Given the description of an element on the screen output the (x, y) to click on. 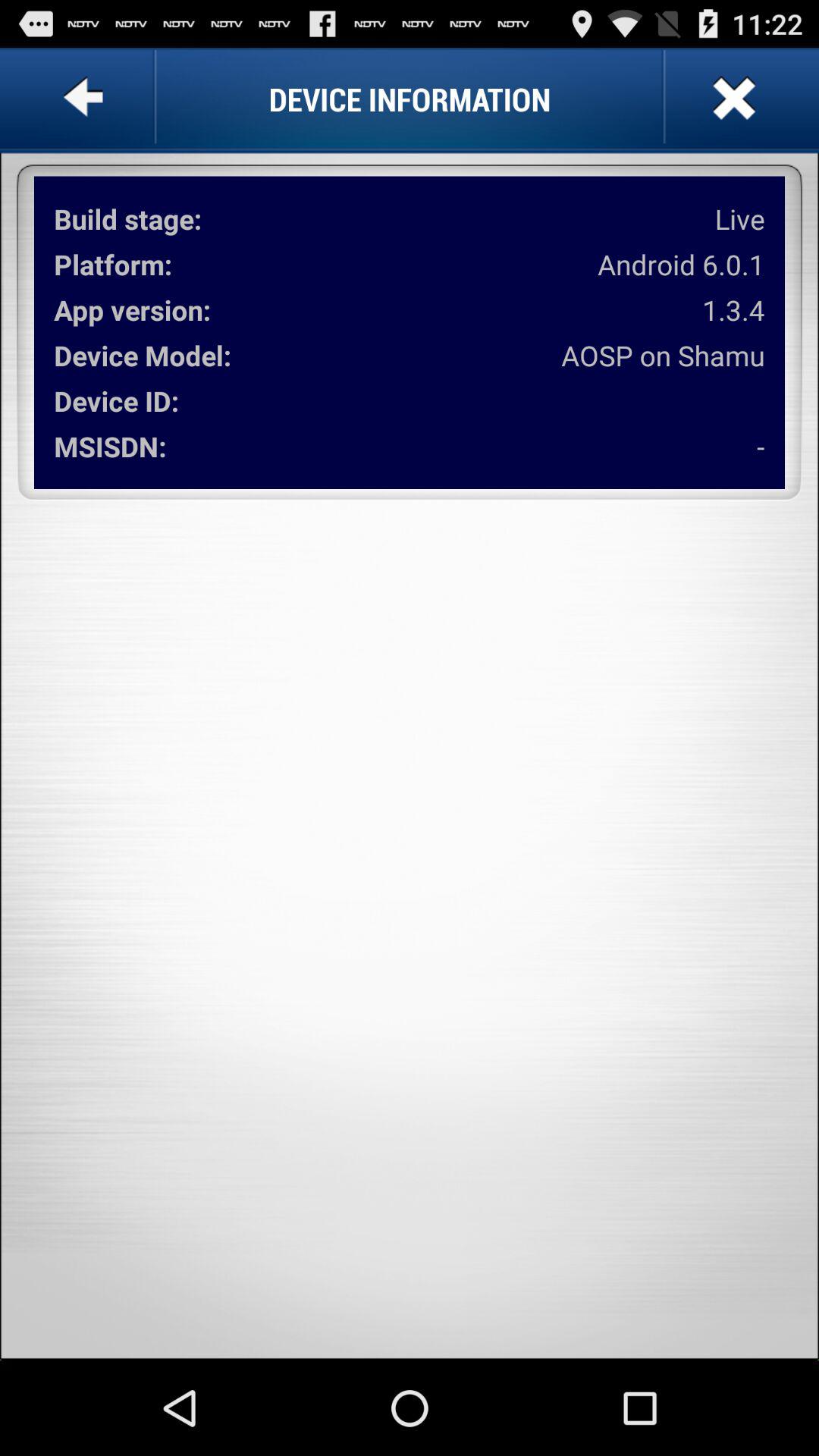
tap icon above build stage: icon (86, 99)
